Given the description of an element on the screen output the (x, y) to click on. 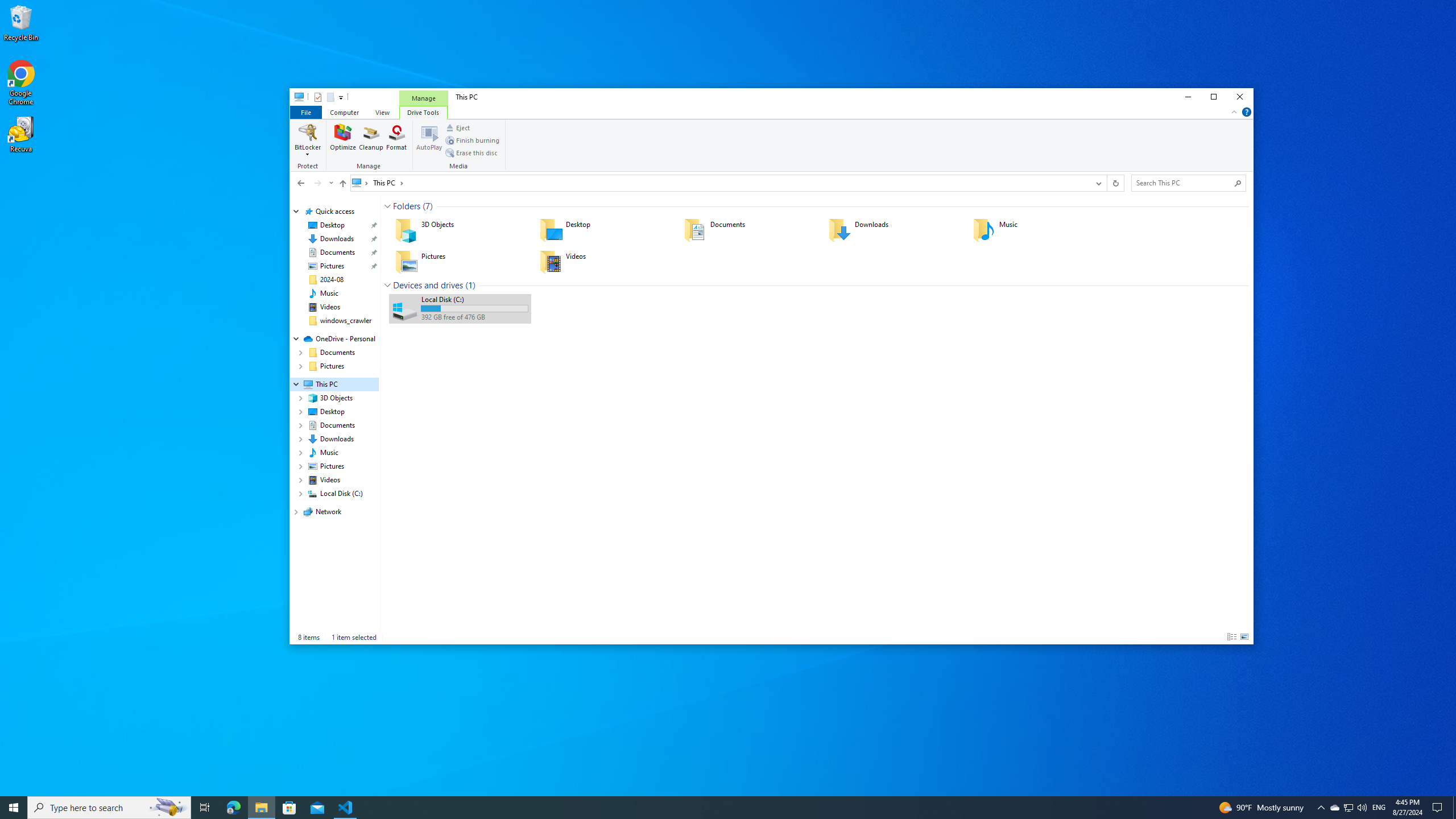
User Promoted Notification Area (1347, 807)
Videos (329, 306)
Recent locations (330, 182)
Details (1231, 636)
Microsoft Store (289, 807)
Pictures (pinned) (331, 265)
Refresh "This PC" (F5) (1115, 182)
BitLocker (307, 140)
Address: This PC (719, 182)
Running applications (706, 807)
Media (459, 145)
System (295, 98)
Address band toolbar (1106, 182)
Documents (748, 229)
